Given the description of an element on the screen output the (x, y) to click on. 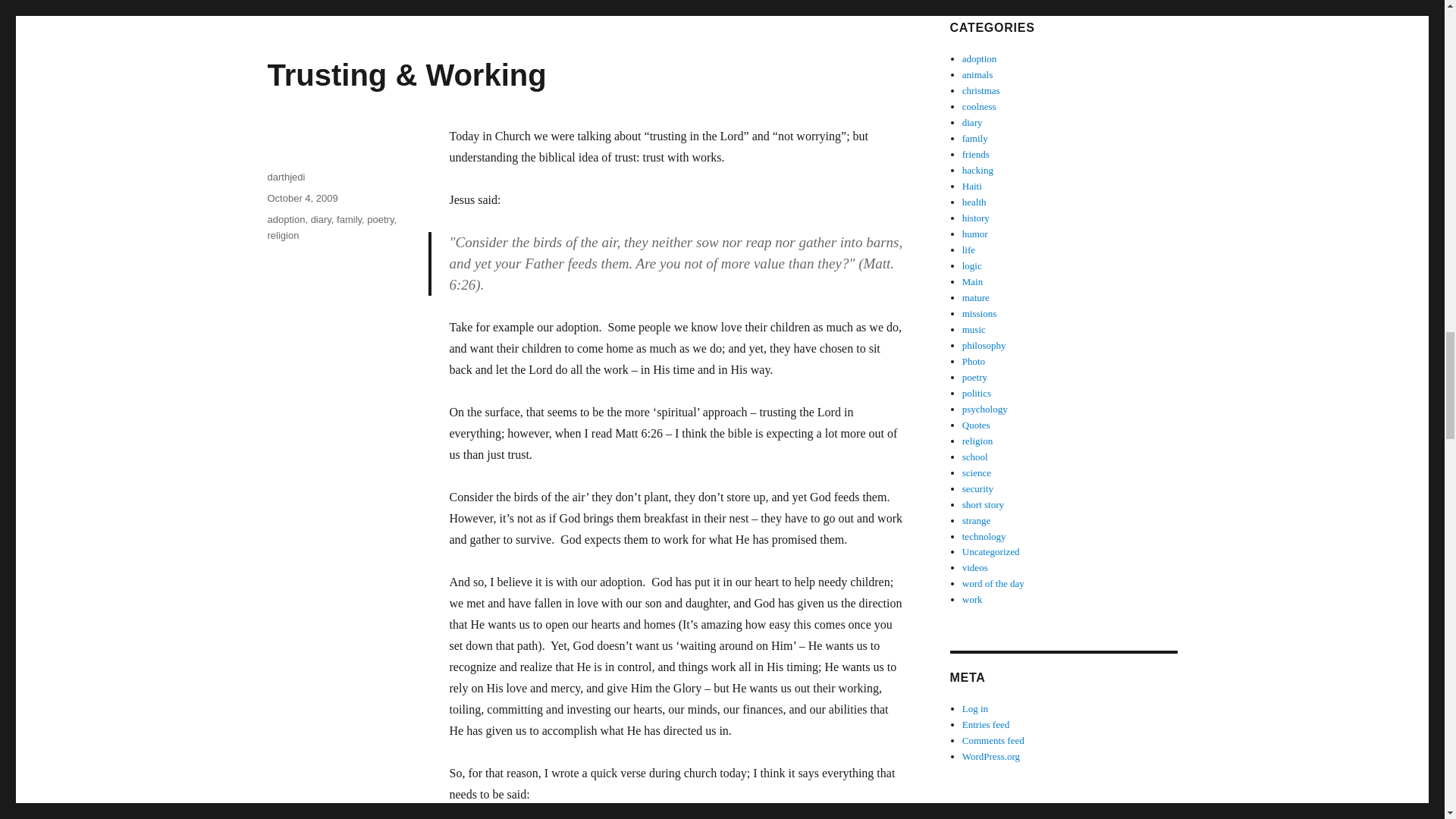
darthjedi (285, 176)
adoption (285, 219)
religion (282, 235)
poetry (379, 219)
diary (321, 219)
family (348, 219)
October 4, 2009 (301, 197)
